Given the description of an element on the screen output the (x, y) to click on. 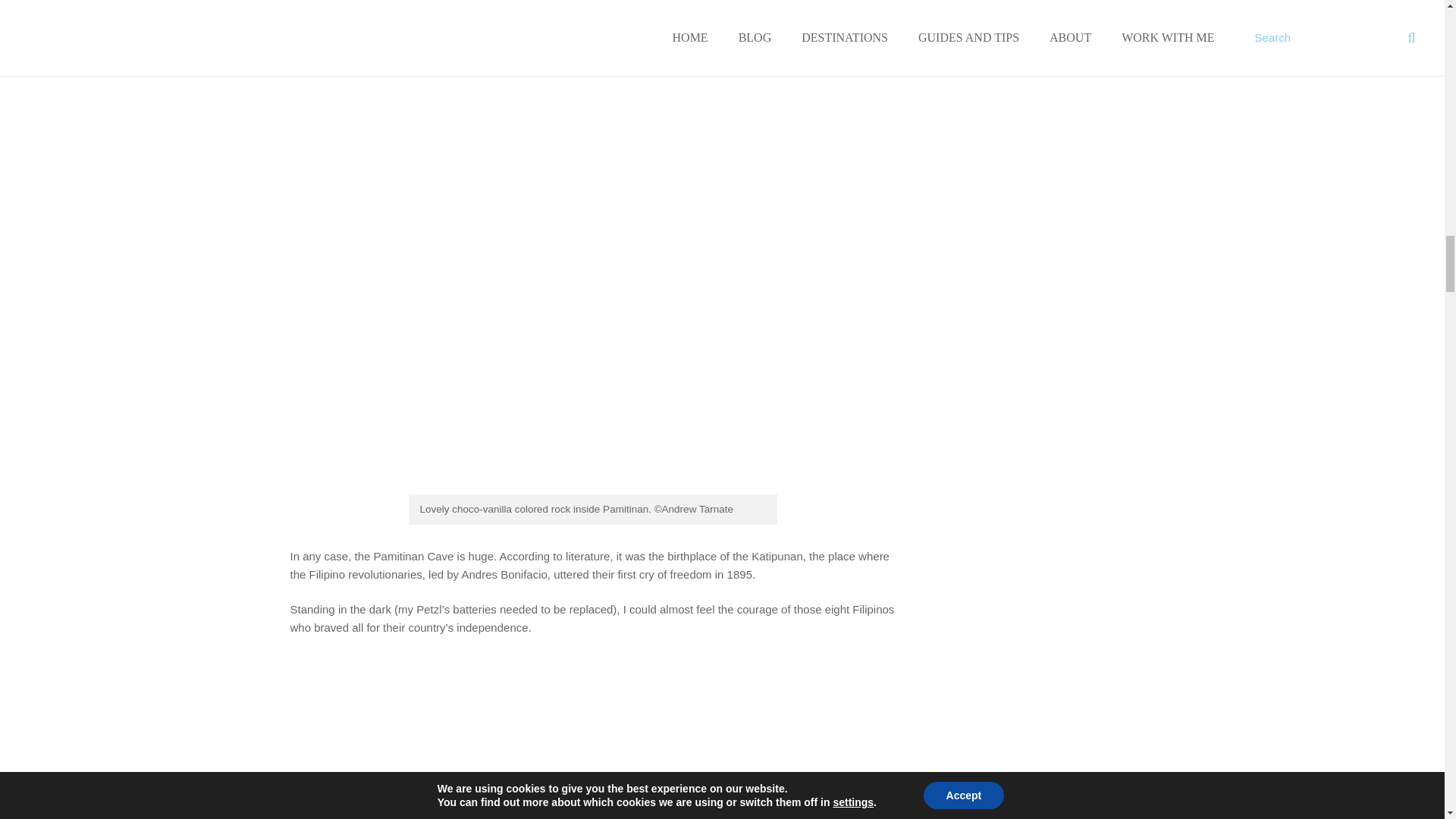
choco-vanilla-rock by Aleah Phils, on Flickr (587, 490)
